Given the description of an element on the screen output the (x, y) to click on. 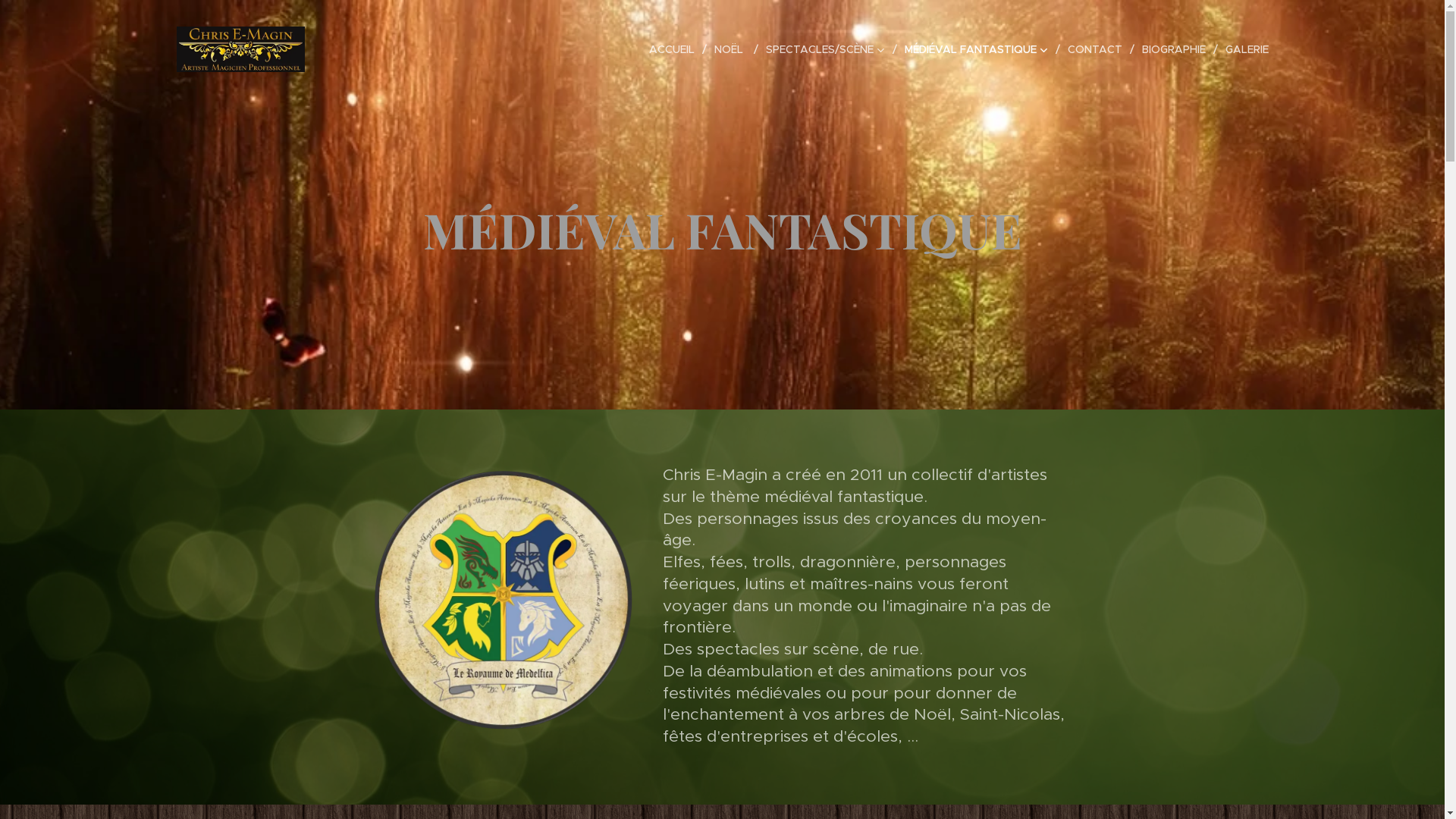
CONTACT Element type: text (1097, 49)
GALERIE Element type: text (1242, 49)
BIOGRAPHIE Element type: text (1175, 49)
ACCUEIL Element type: text (675, 49)
